Given the description of an element on the screen output the (x, y) to click on. 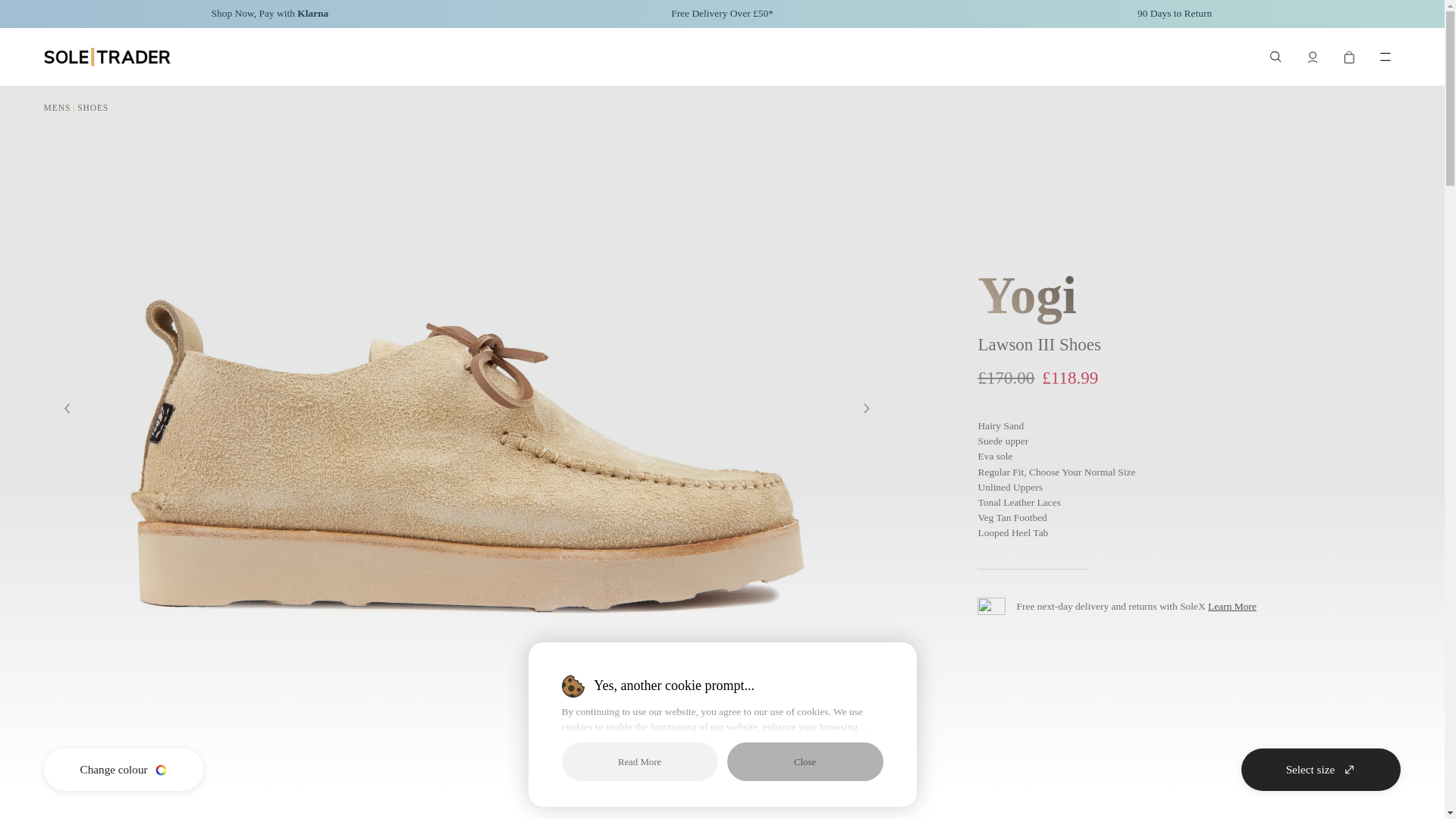
Select size (1320, 769)
Search (1275, 56)
Add to wishlist (660, 769)
Learn More (1232, 605)
In-store pickup (783, 769)
Your bag (1348, 56)
Change colour (123, 769)
Yogi (1026, 295)
SHOES (92, 107)
Account (1312, 56)
